Given the description of an element on the screen output the (x, y) to click on. 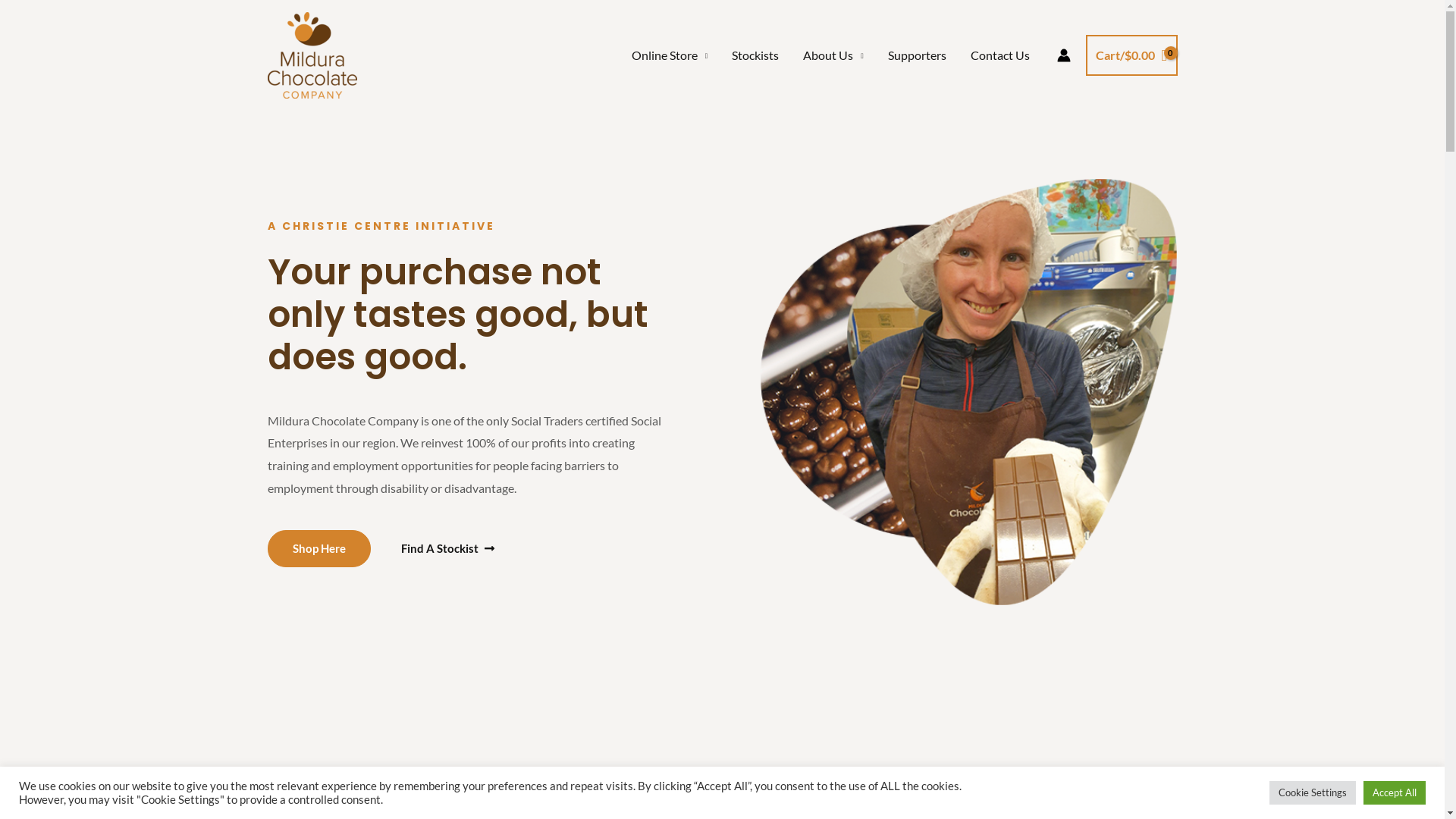
Accept All Element type: text (1394, 792)
Shop Here Element type: text (318, 547)
Online Store Element type: text (669, 54)
Log In Element type: text (676, 618)
About Us Element type: text (832, 54)
Supporters Element type: text (916, 54)
Cart/$0.00 Element type: text (1131, 54)
Find A Stockist Element type: text (446, 548)
Contact Us Element type: text (999, 54)
Cookie Settings Element type: text (1312, 792)
Stockists Element type: text (754, 54)
